Given the description of an element on the screen output the (x, y) to click on. 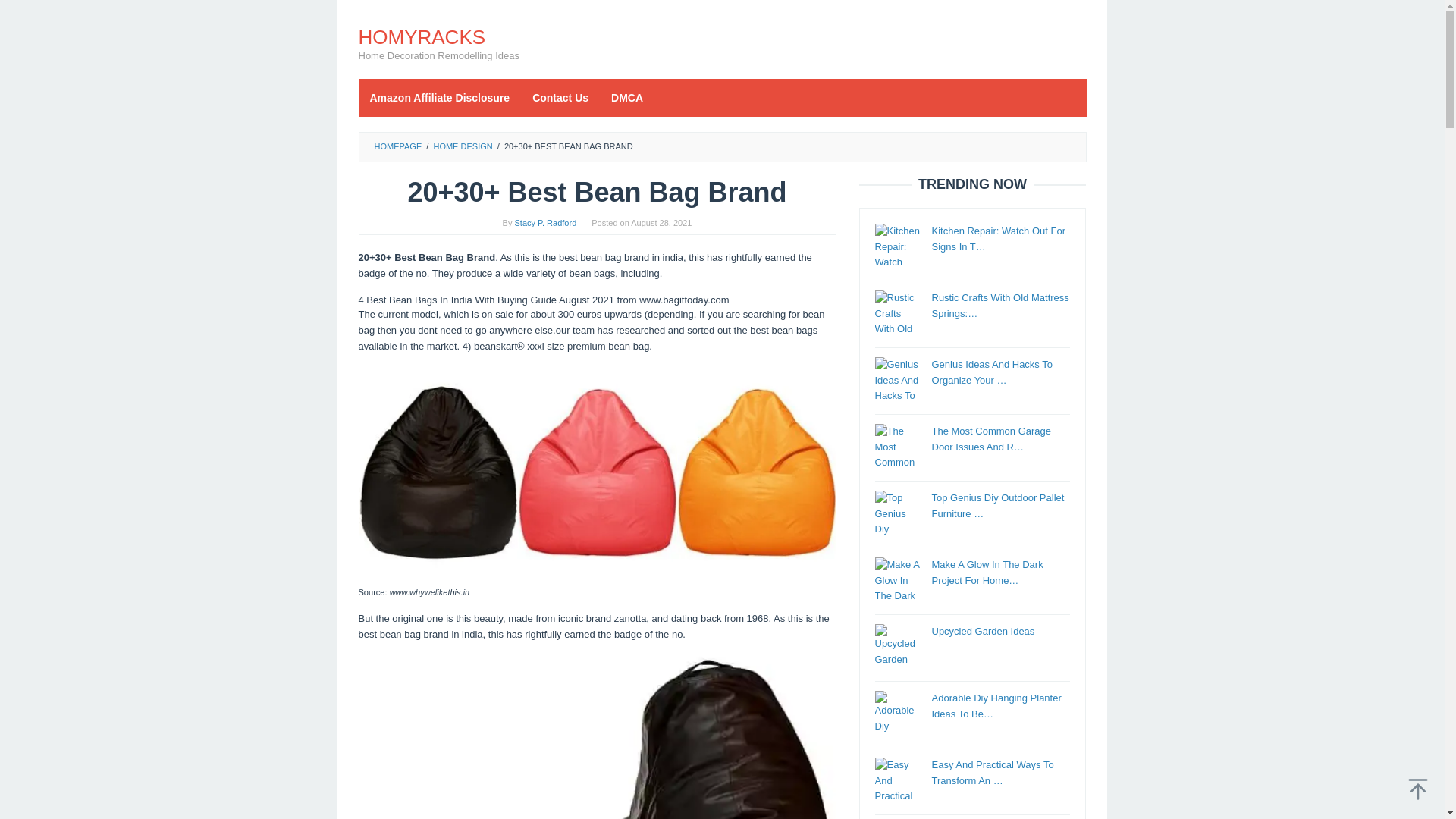
Amazon Affiliate Disclosure (439, 97)
Stacy P. Radford (545, 222)
Upcycled Garden Ideas (982, 631)
DMCA (626, 97)
Contact Us (560, 97)
HOME DESIGN (462, 145)
HOMYRACKS (421, 36)
Permalink to: Stacy P. Radford (545, 222)
HOMEPAGE (398, 145)
HOMYRACKS (421, 36)
